Given the description of an element on the screen output the (x, y) to click on. 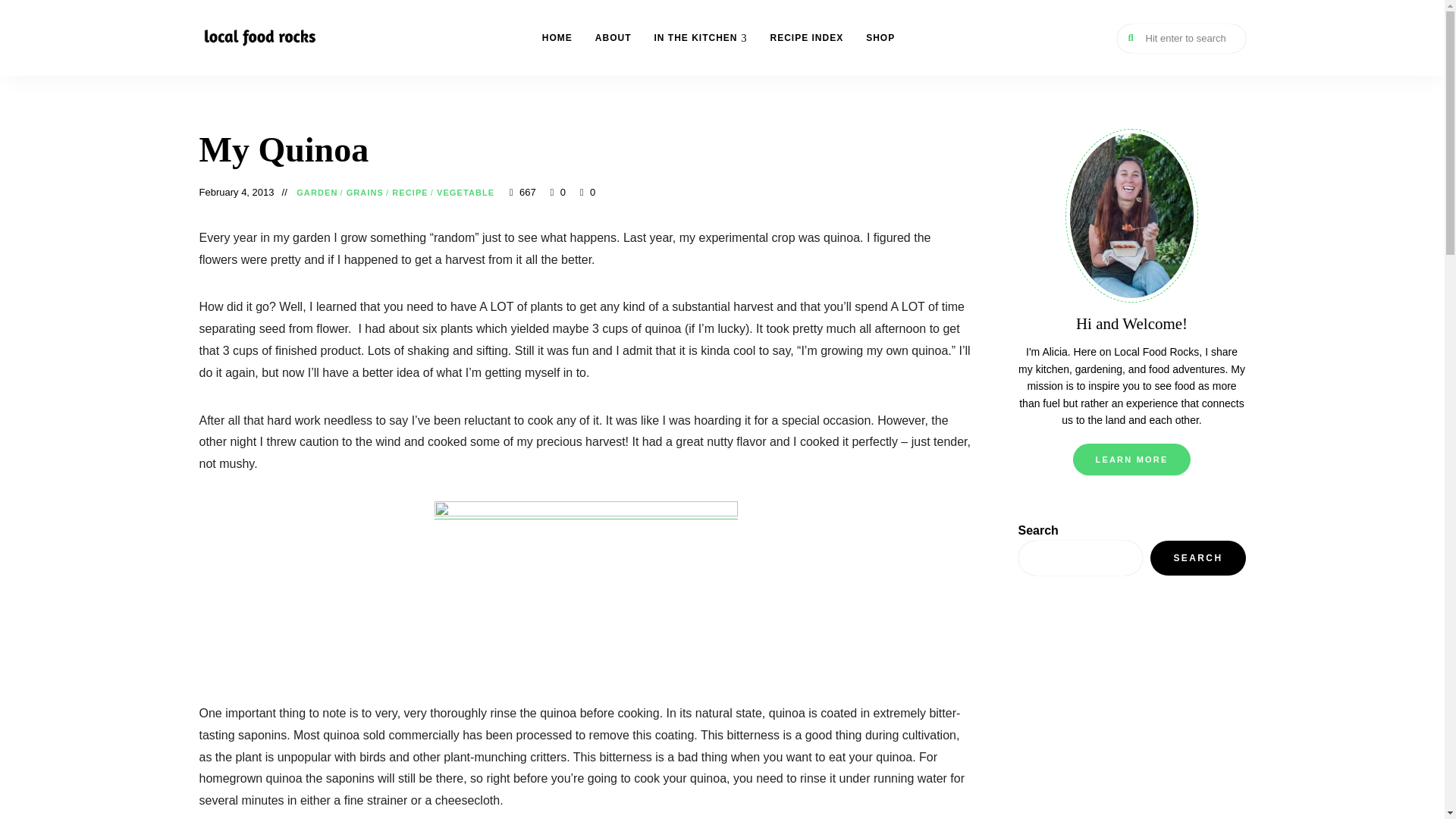
SEARCH (1197, 557)
GARDEN (317, 192)
RECIPE INDEX (806, 38)
VEGETABLE (465, 192)
0 (587, 192)
GRAINS (365, 192)
RECIPE (409, 192)
LEARN MORE (1132, 459)
IN THE KITCHEN (700, 38)
